Given the description of an element on the screen output the (x, y) to click on. 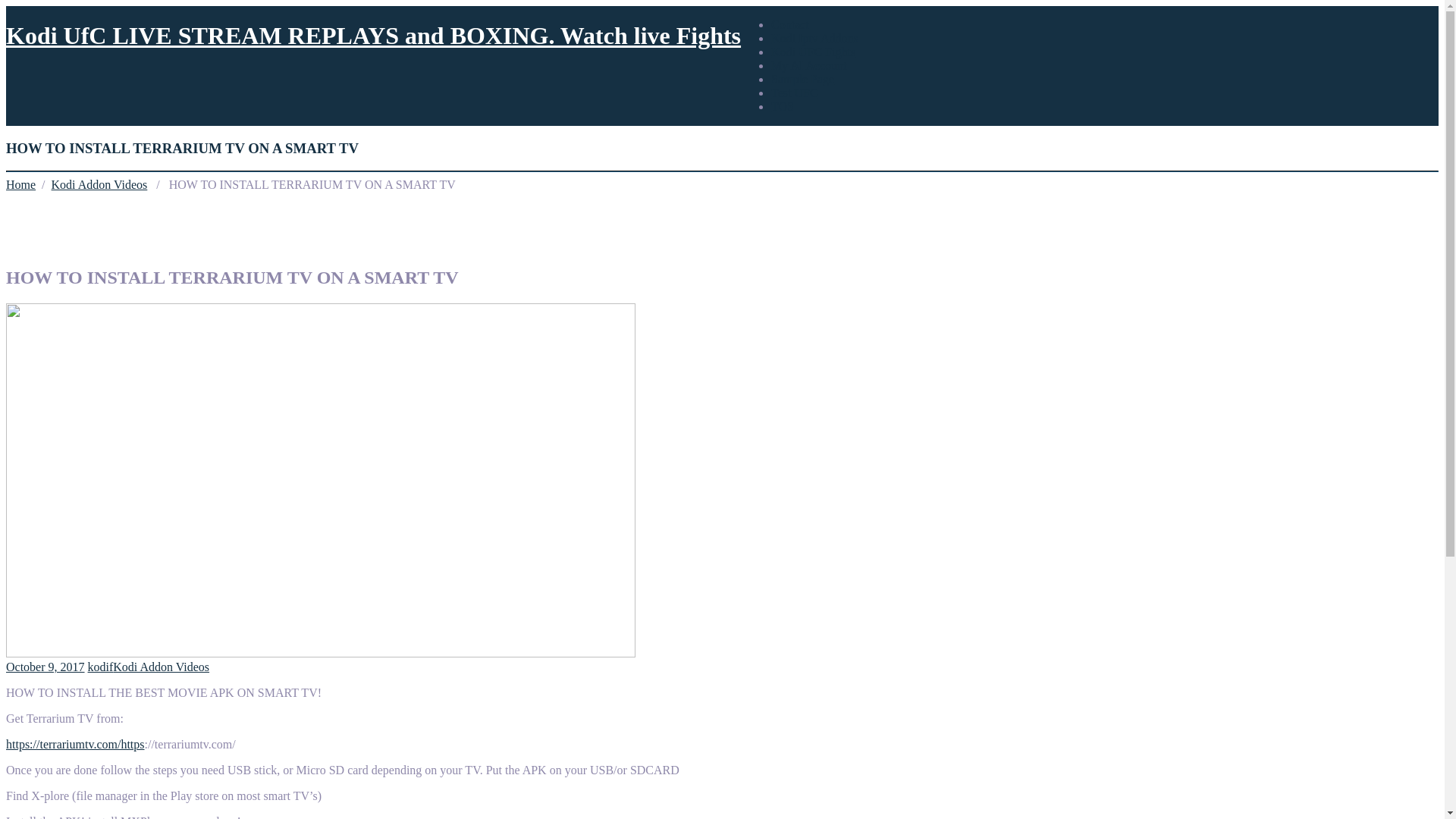
October 9, 2017 (44, 666)
Kodi UfC LIVE STREAM REPLAYS and BOXING. Watch live Fights (373, 35)
Kodi Addon Videos (99, 184)
Home (19, 184)
Contact (790, 24)
Test UFC (794, 92)
My AI Account (809, 65)
Kodi UFC Fights (813, 51)
TOS (782, 106)
Sample Page (802, 78)
Kodi Iptv Addons (815, 38)
Kodi Addon Videos (161, 666)
kodif (100, 666)
